Given the description of an element on the screen output the (x, y) to click on. 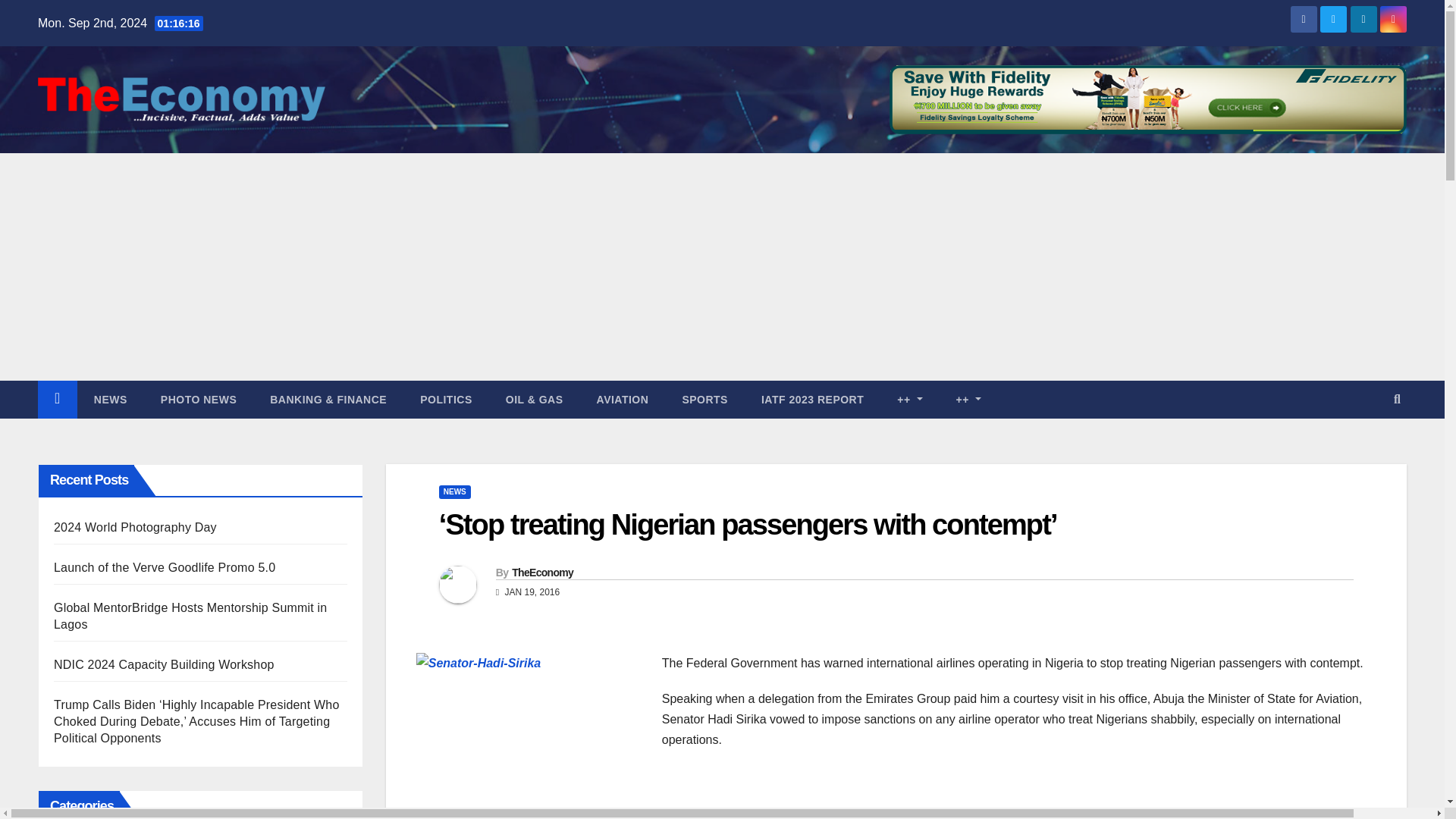
SPORTS (704, 399)
IATF 2023 REPORT (812, 399)
POLITICS (446, 399)
News (110, 399)
PHOTO NEWS (198, 399)
IATF 2023 REPORT (812, 399)
AVIATION (622, 399)
Photo News (198, 399)
Politics (446, 399)
